Given the description of an element on the screen output the (x, y) to click on. 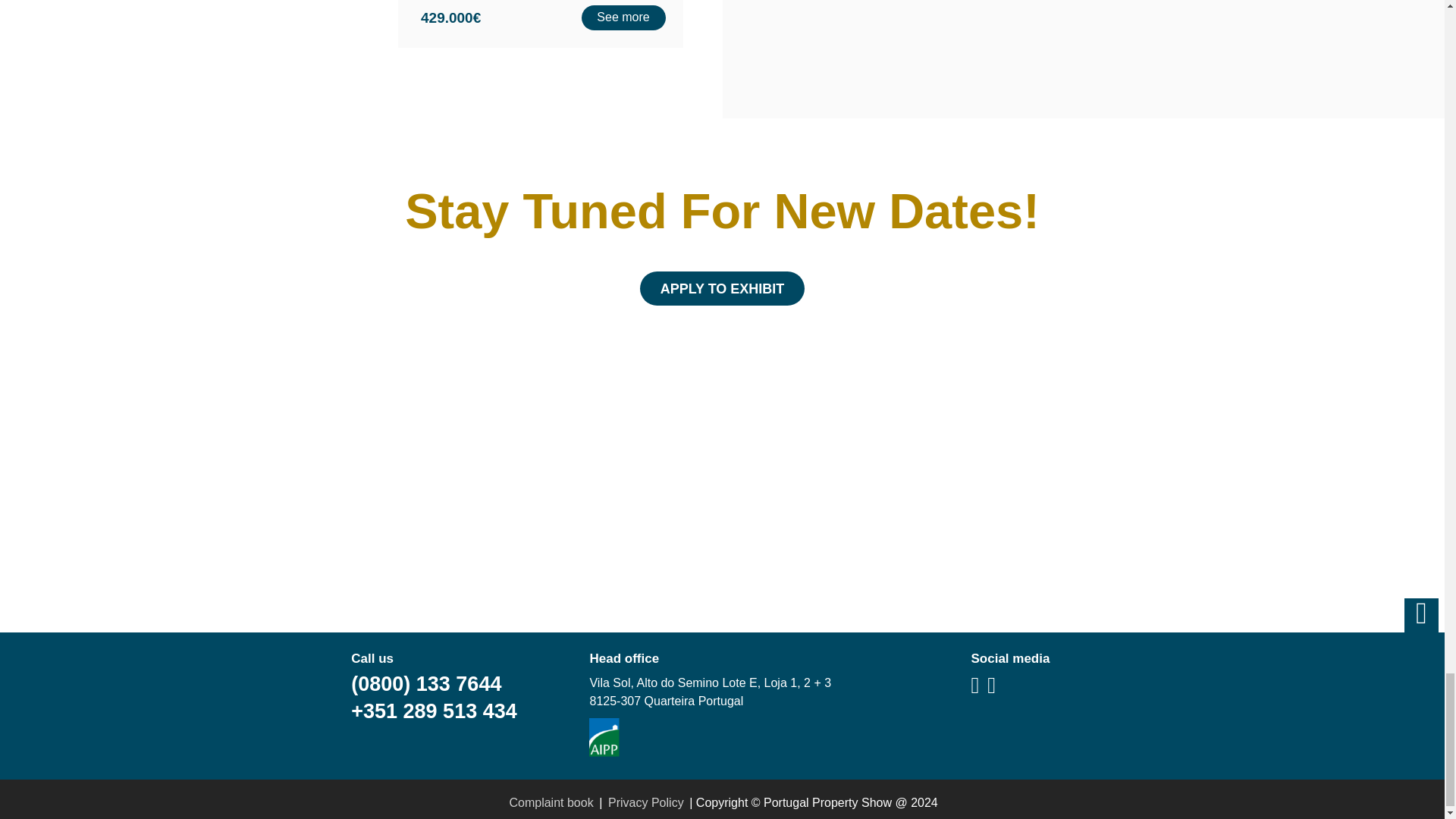
APPLY TO EXHIBIT (722, 288)
Complaint book (550, 802)
Privacy Policy (645, 802)
